Given the description of an element on the screen output the (x, y) to click on. 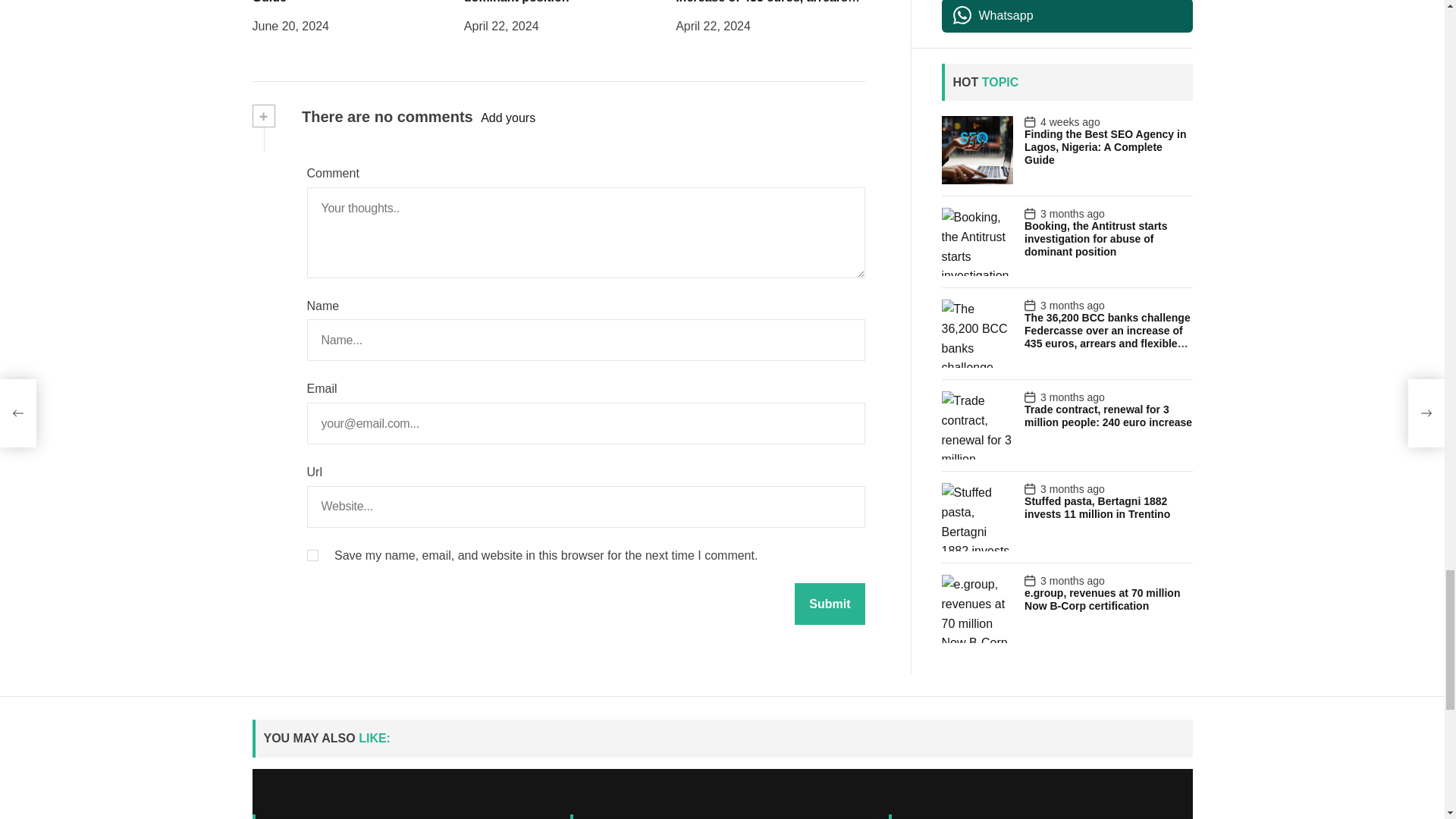
Submit (829, 7)
